Given the description of an element on the screen output the (x, y) to click on. 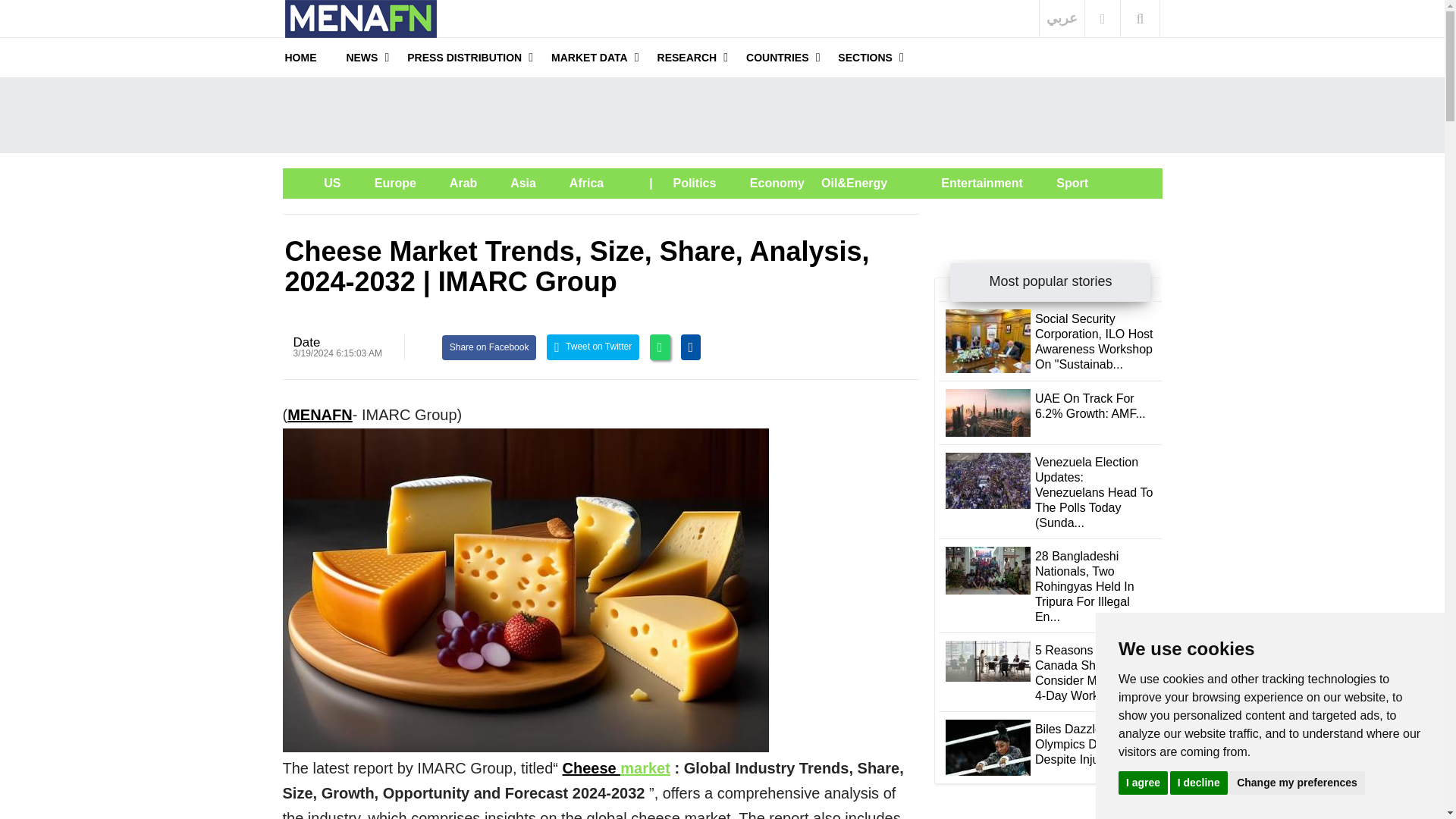
Change my preferences (1296, 781)
I decline (1198, 781)
Advertisement (721, 115)
Posts by NewEdge (306, 341)
HOME (301, 56)
NEWS (361, 56)
I agree (1142, 781)
PRESS DISTRIBUTION (464, 56)
MARKET DATA (589, 56)
Share on linkedin (691, 347)
